Given the description of an element on the screen output the (x, y) to click on. 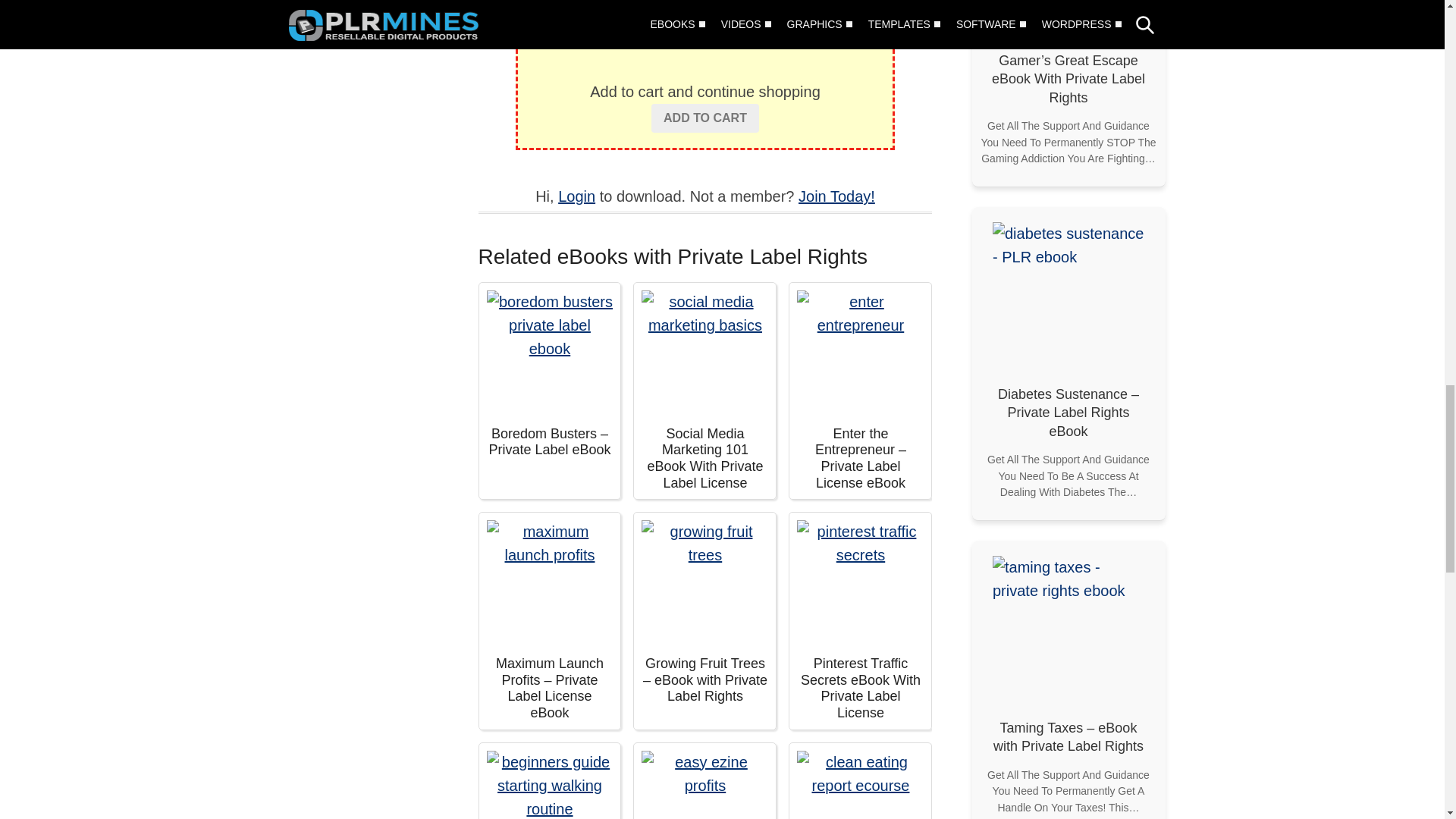
Beginners Guide to Starting a Walking Routine eBook with PLR (549, 785)
Add to Cart (704, 118)
Pinterest Traffic Secrets eBook With Private Label License (859, 583)
Social Media Marketing 101 eBook With Private Label License (705, 353)
